Given the description of an element on the screen output the (x, y) to click on. 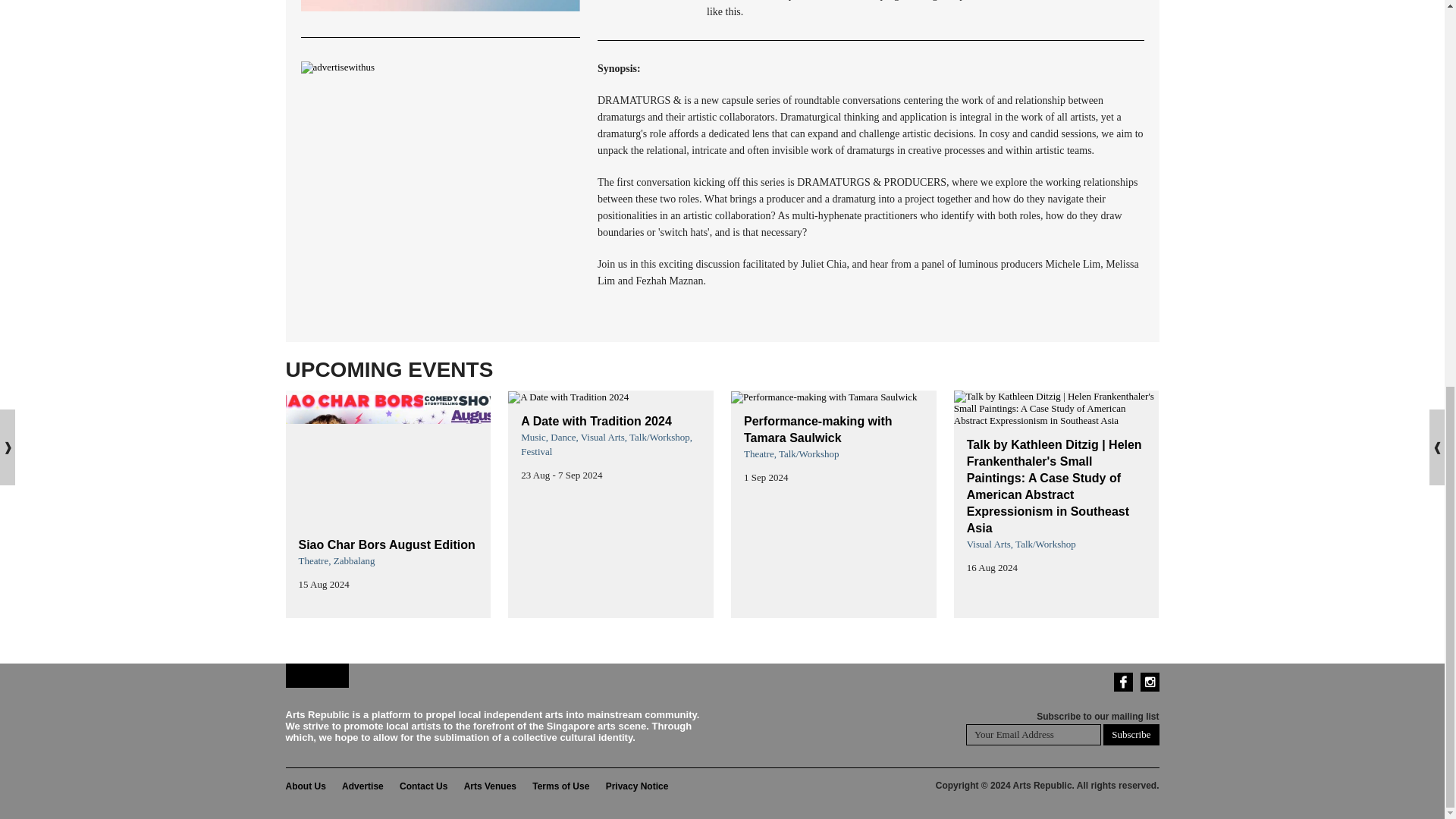
A Date with Tradition 2024 (596, 420)
Performance-making with Tamara Saulwick (818, 429)
Siao Char Bors August Edition (387, 544)
Subscribe (1130, 734)
